Given the description of an element on the screen output the (x, y) to click on. 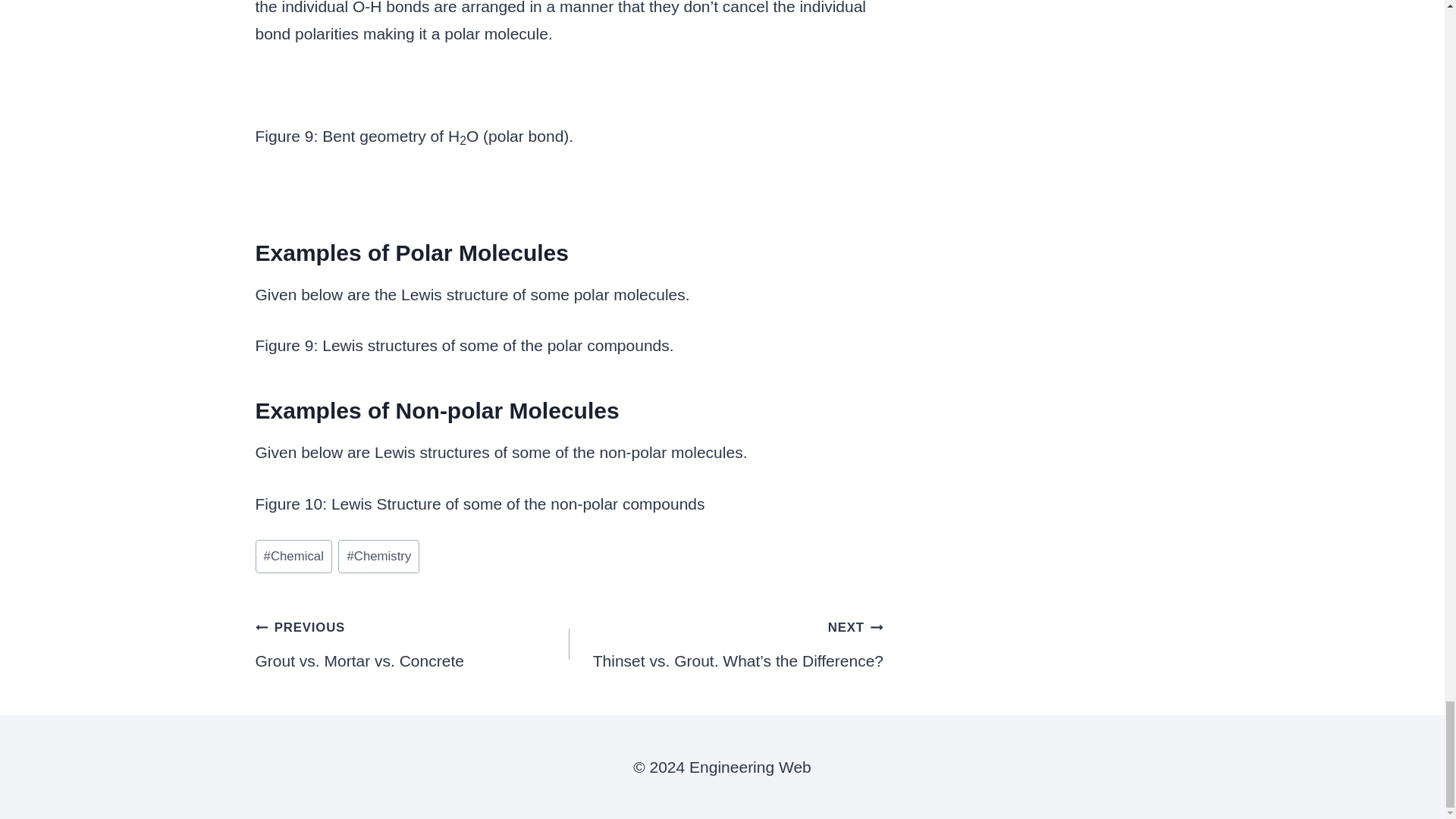
Chemical (411, 643)
Chemistry (292, 556)
